Given the description of an element on the screen output the (x, y) to click on. 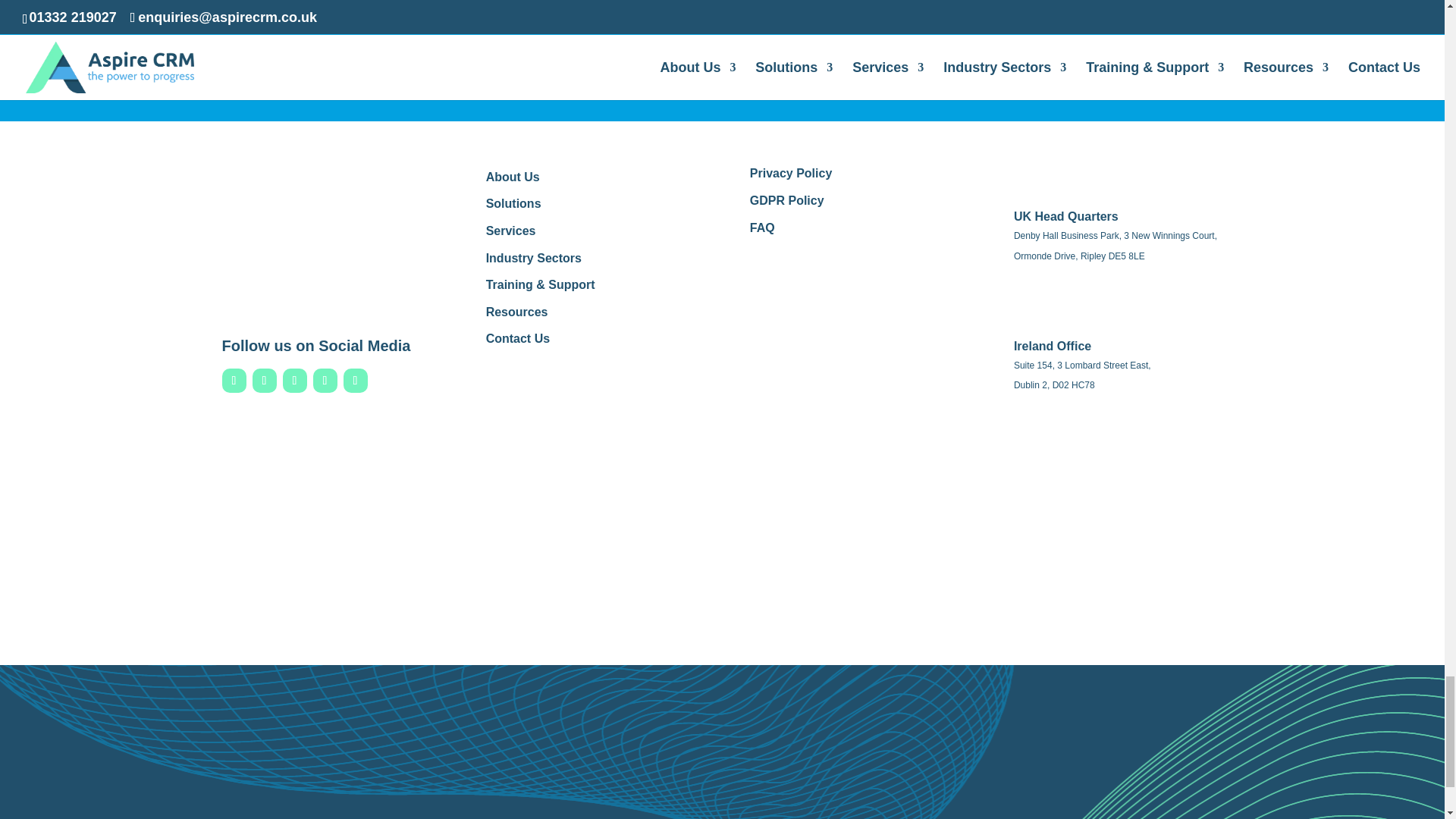
Follow on TikTok (354, 380)
Services (510, 230)
Follow on Facebook (233, 380)
Solutions (513, 203)
Follow on Youtube (324, 380)
About Us (513, 176)
Follow on LinkedIn (263, 380)
Follow on Instagram (293, 380)
